Given the description of an element on the screen output the (x, y) to click on. 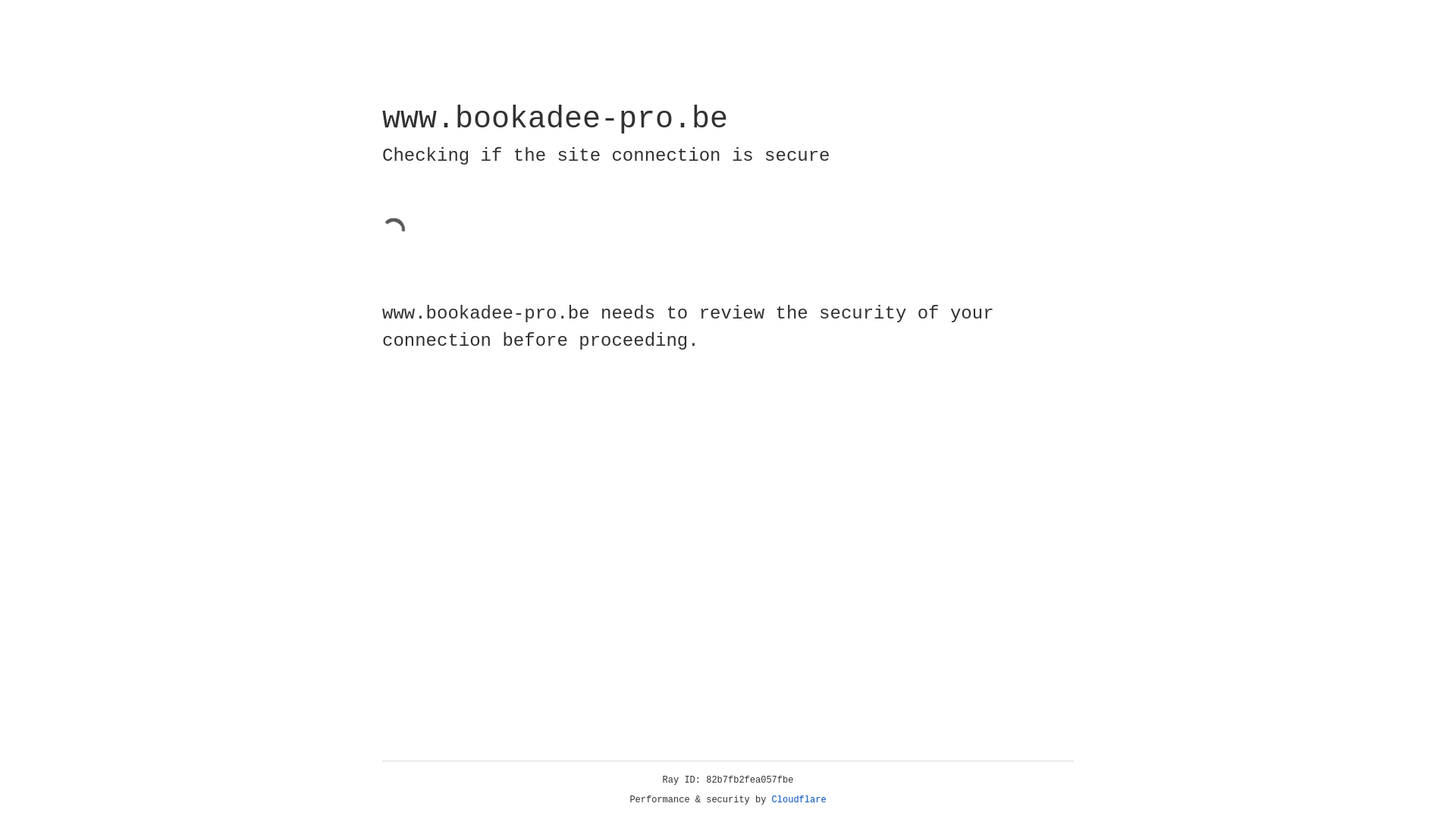
Cloudflare Element type: text (798, 799)
